Given the description of an element on the screen output the (x, y) to click on. 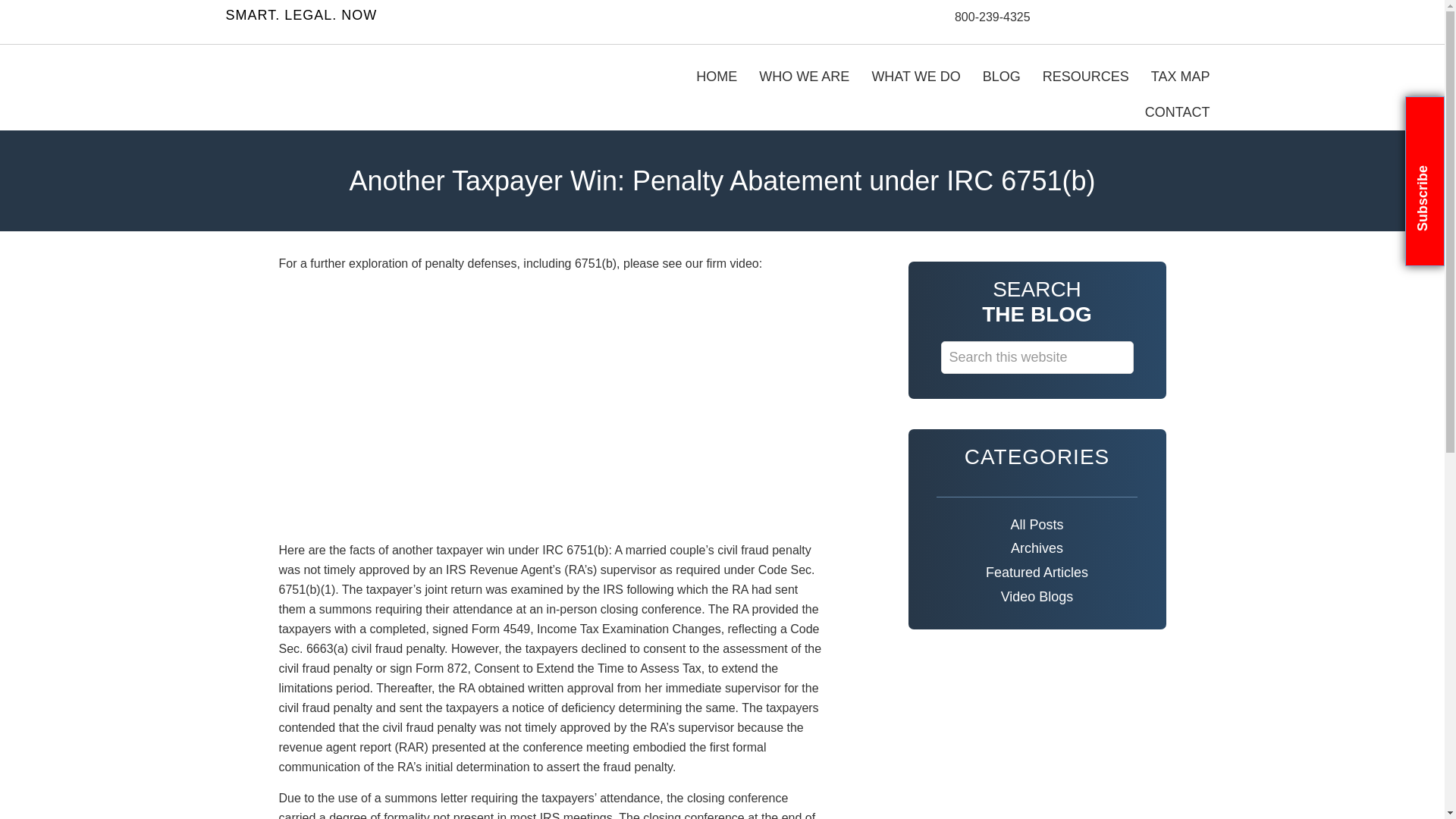
All Posts (1037, 525)
BLOG (1001, 76)
WHO WE ARE (804, 76)
TAX MAP (1180, 76)
CONTACT (1177, 112)
Featured Articles (1037, 573)
RESOURCES (1085, 76)
WHAT WE DO (915, 76)
